Given the description of an element on the screen output the (x, y) to click on. 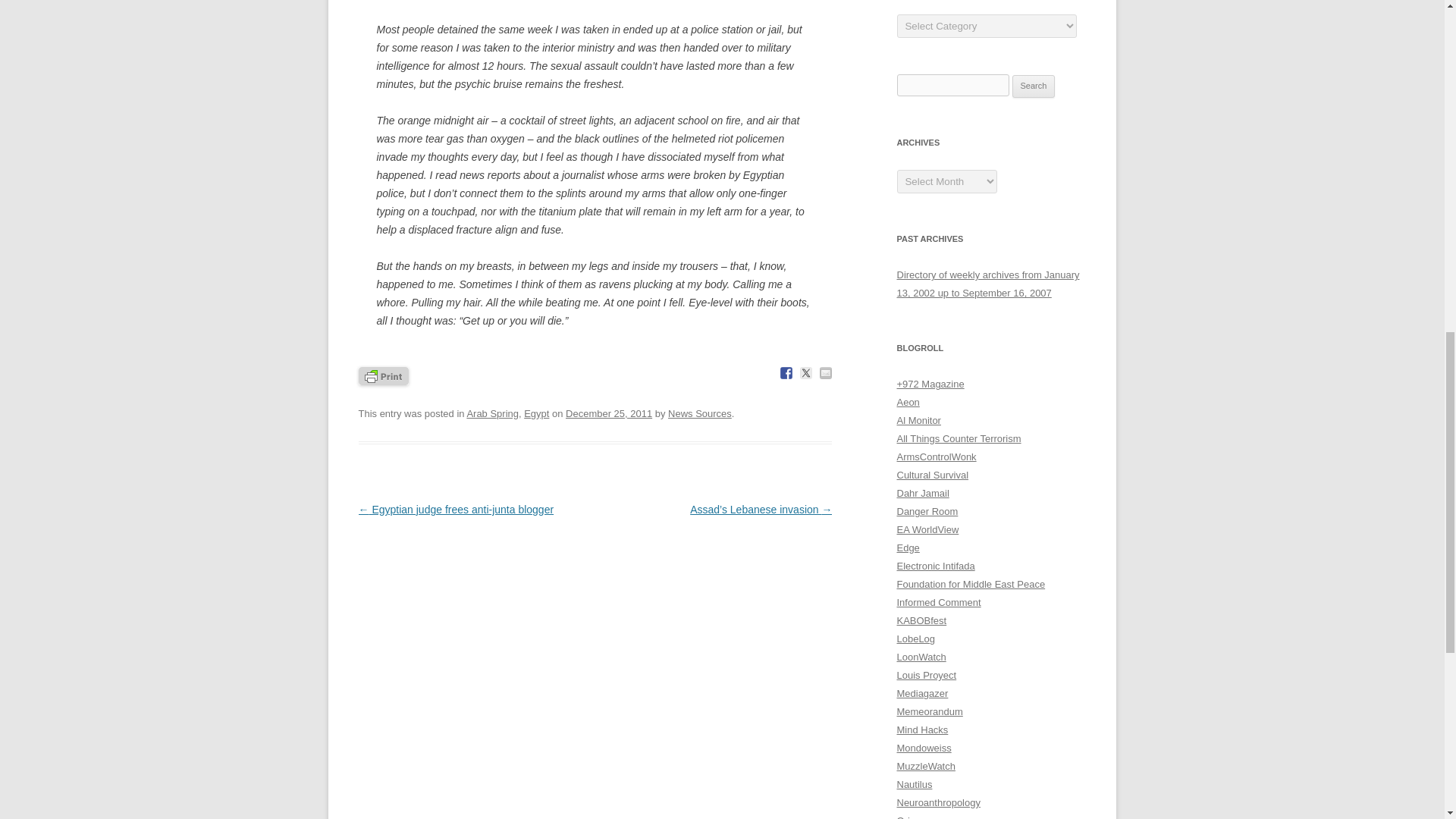
Search (1033, 86)
December 25, 2011 (609, 413)
Edge (907, 547)
News Sources (700, 413)
EA WorldView (927, 529)
Share on Facebook (786, 372)
Share by email (825, 372)
Foundation for Middle East Peace (970, 583)
ArmsControlWonk (935, 456)
Al Monitor (918, 419)
Aeon (907, 401)
Egypt (536, 413)
